Given the description of an element on the screen output the (x, y) to click on. 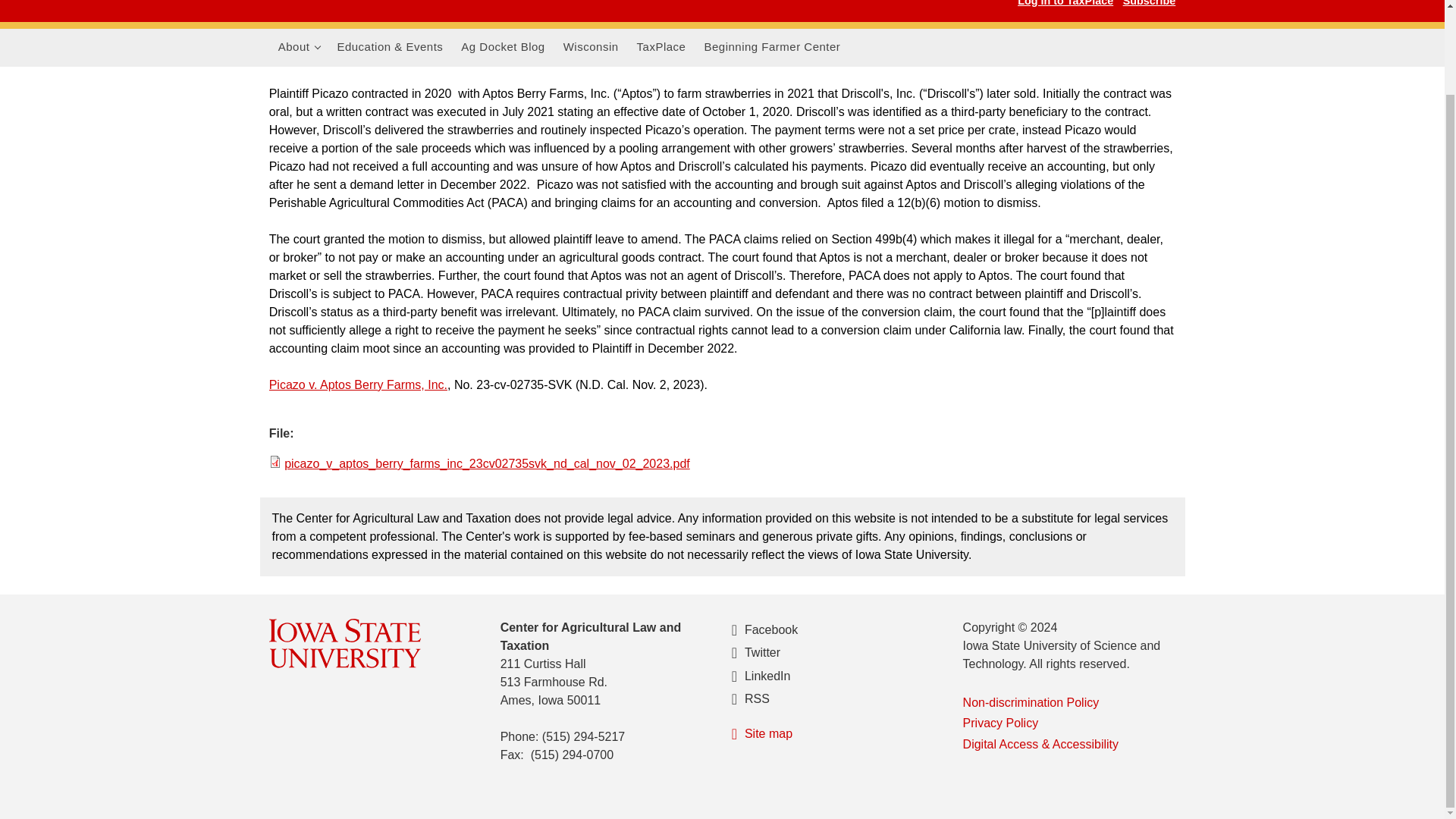
Center for Agricultural Law and Taxation (299, 47)
Display a site map with RSS feeds. (835, 734)
